Given the description of an element on the screen output the (x, y) to click on. 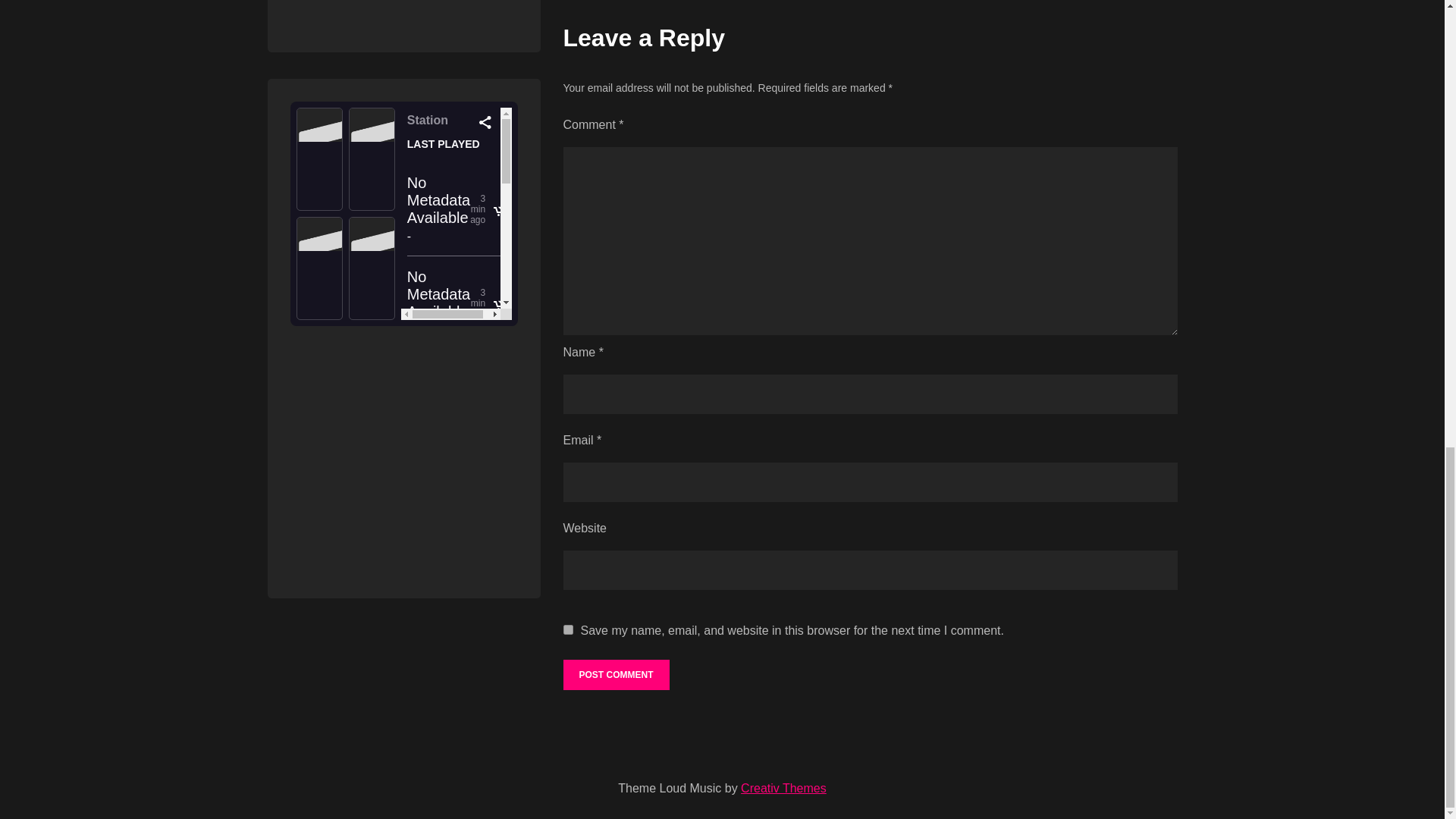
Creativ Themes (784, 788)
Post Comment (615, 675)
yes (567, 629)
Post Comment (615, 675)
